Given the description of an element on the screen output the (x, y) to click on. 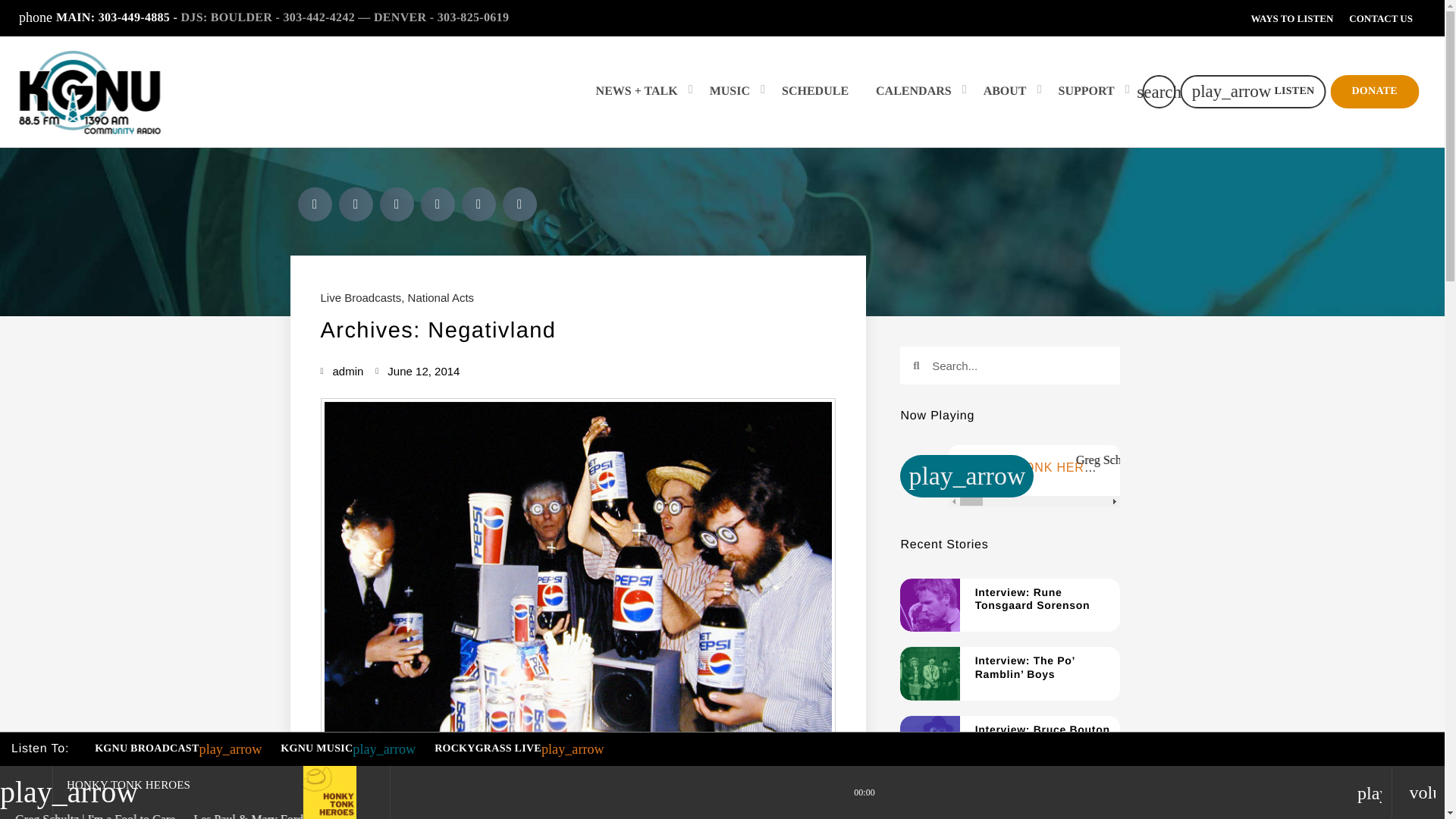
CONTACT US (1380, 18)
ABOUT (1007, 91)
MUSIC (731, 91)
SCHEDULE (814, 91)
HONKY TONK HEROES (128, 784)
WAYS TO LISTEN (1291, 18)
search (1159, 91)
DONATE (1374, 91)
CALENDARS (915, 91)
SUPPORT (1088, 91)
